Given the description of an element on the screen output the (x, y) to click on. 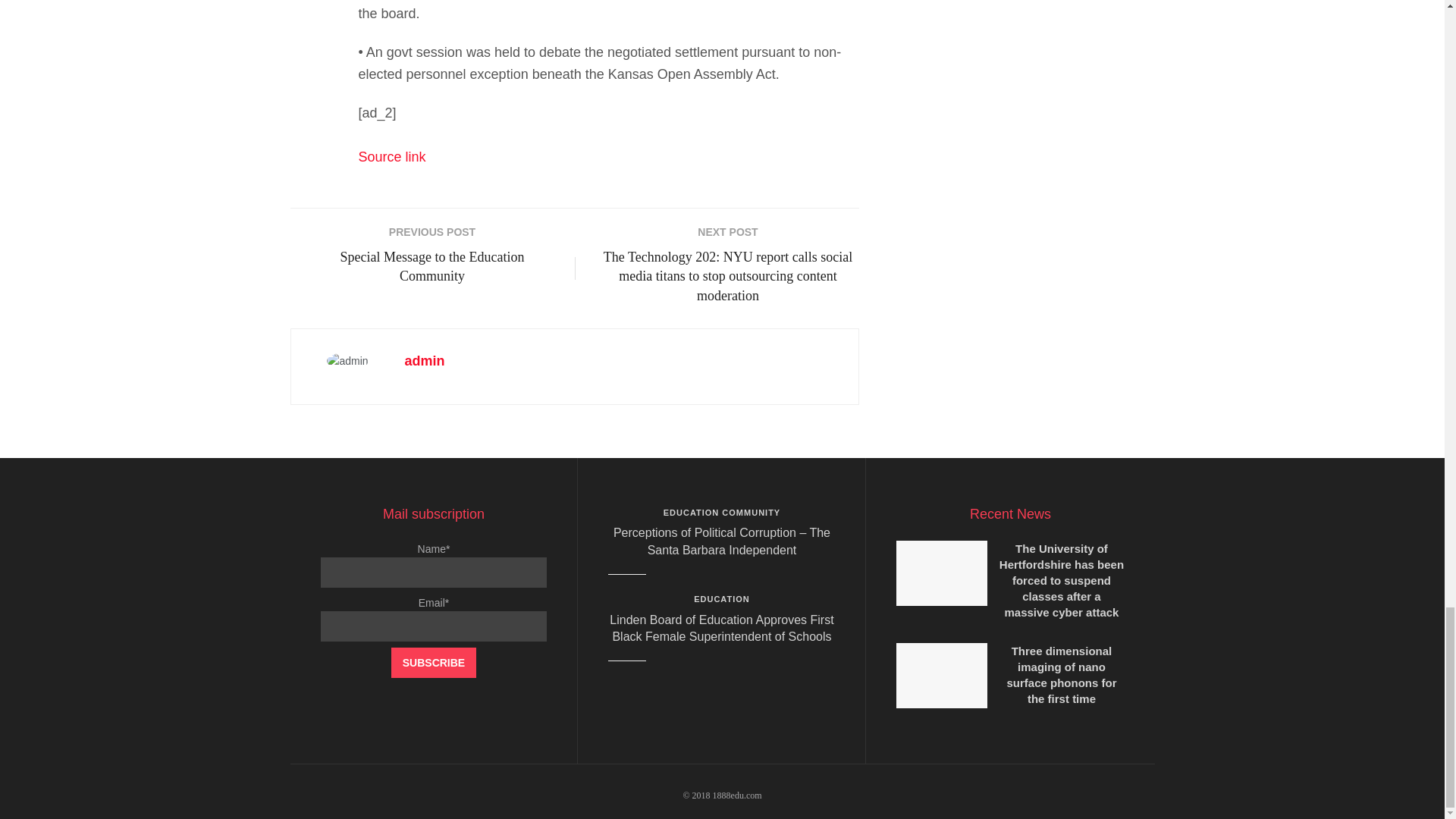
Source link (391, 156)
admin (424, 360)
Subscribe (433, 662)
